Given the description of an element on the screen output the (x, y) to click on. 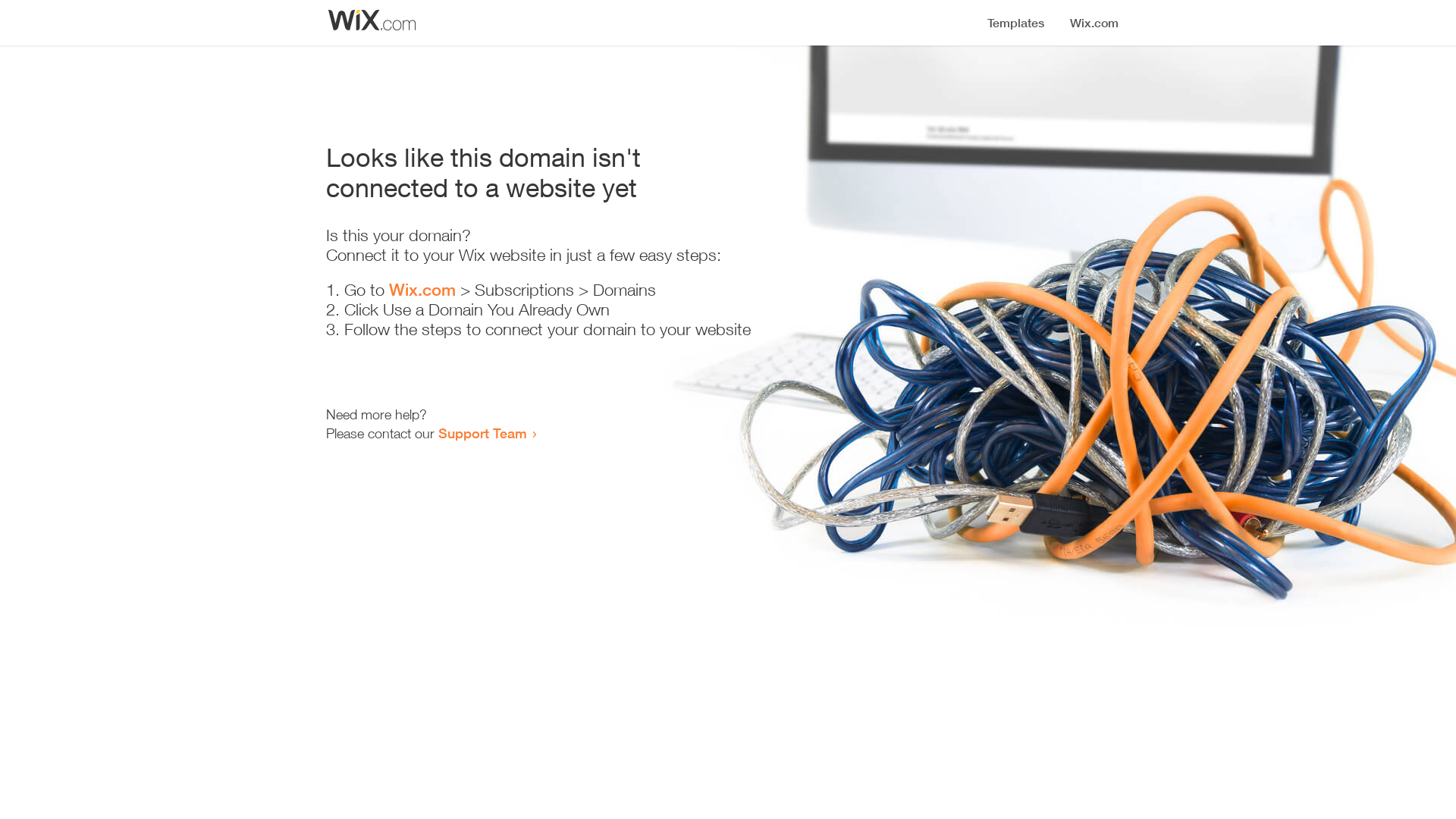
Support Team Element type: text (482, 432)
Wix.com Element type: text (422, 289)
